Given the description of an element on the screen output the (x, y) to click on. 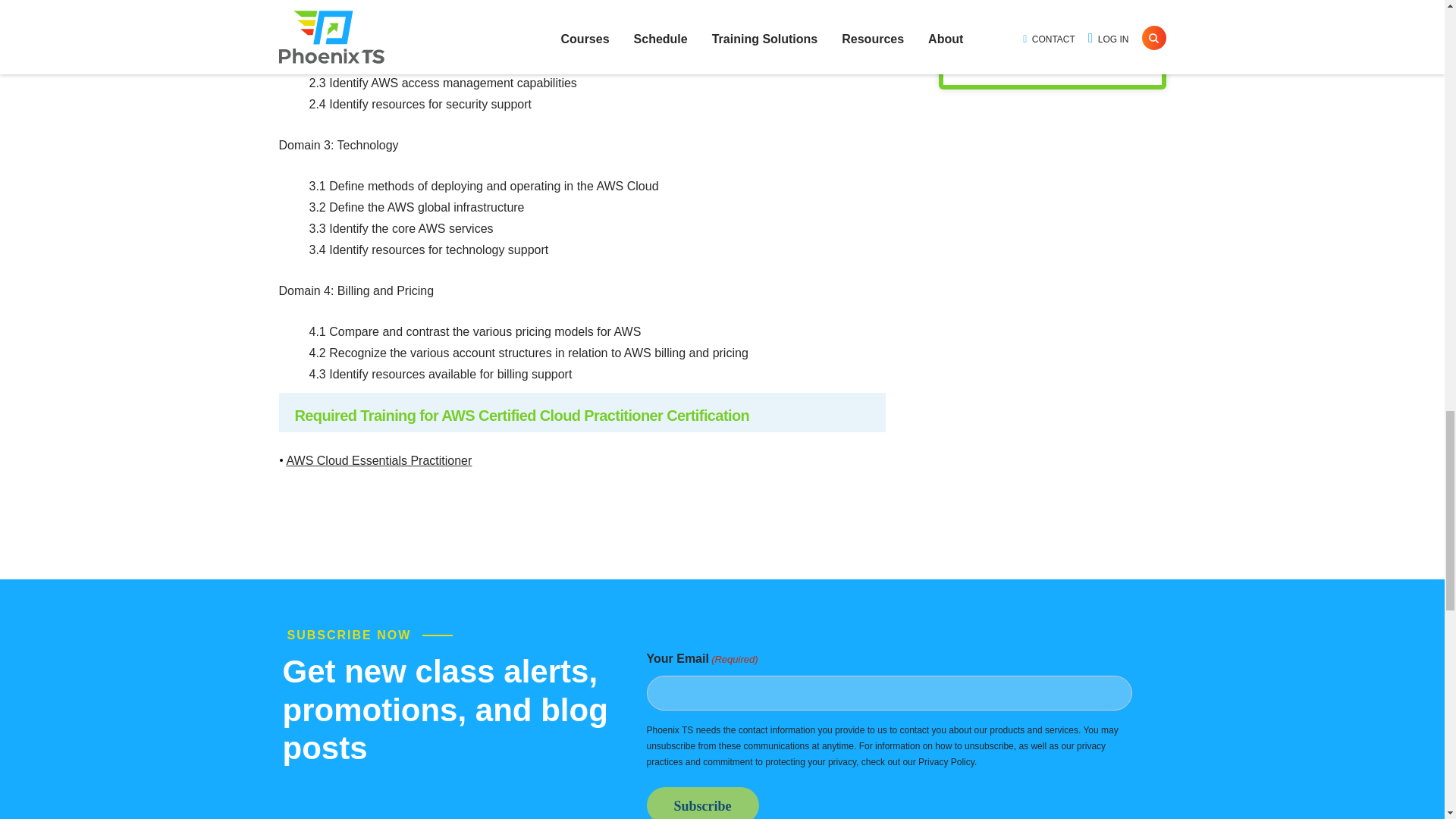
Subscribe (702, 803)
